Given the description of an element on the screen output the (x, y) to click on. 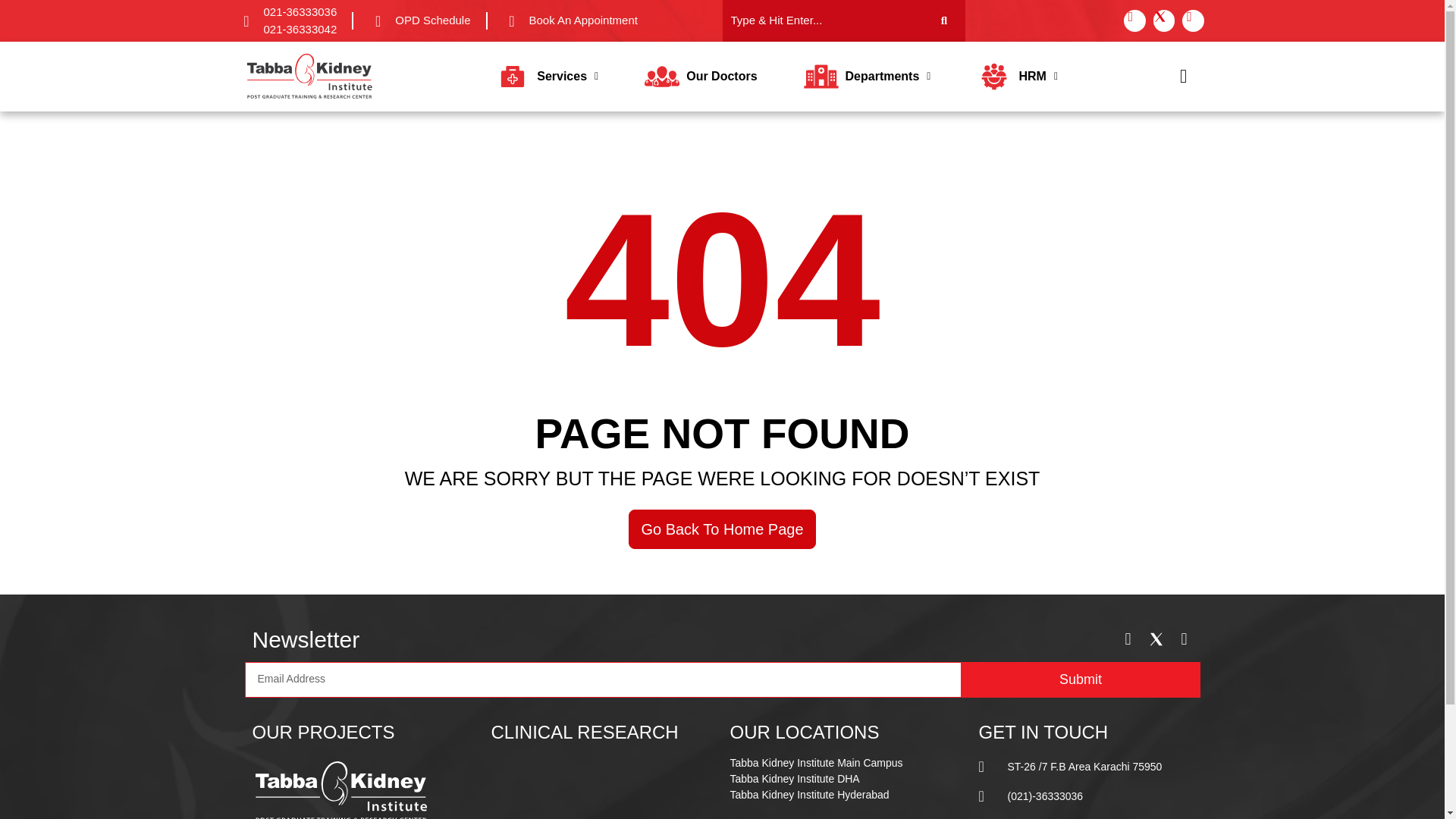
Our Doctors (700, 76)
Instagram (1193, 20)
Search (822, 20)
OPD Schedule (419, 20)
Departments (866, 76)
HRM (1016, 76)
Book An Appointment (569, 20)
Facebook-f (1134, 20)
Services (545, 76)
